Given the description of an element on the screen output the (x, y) to click on. 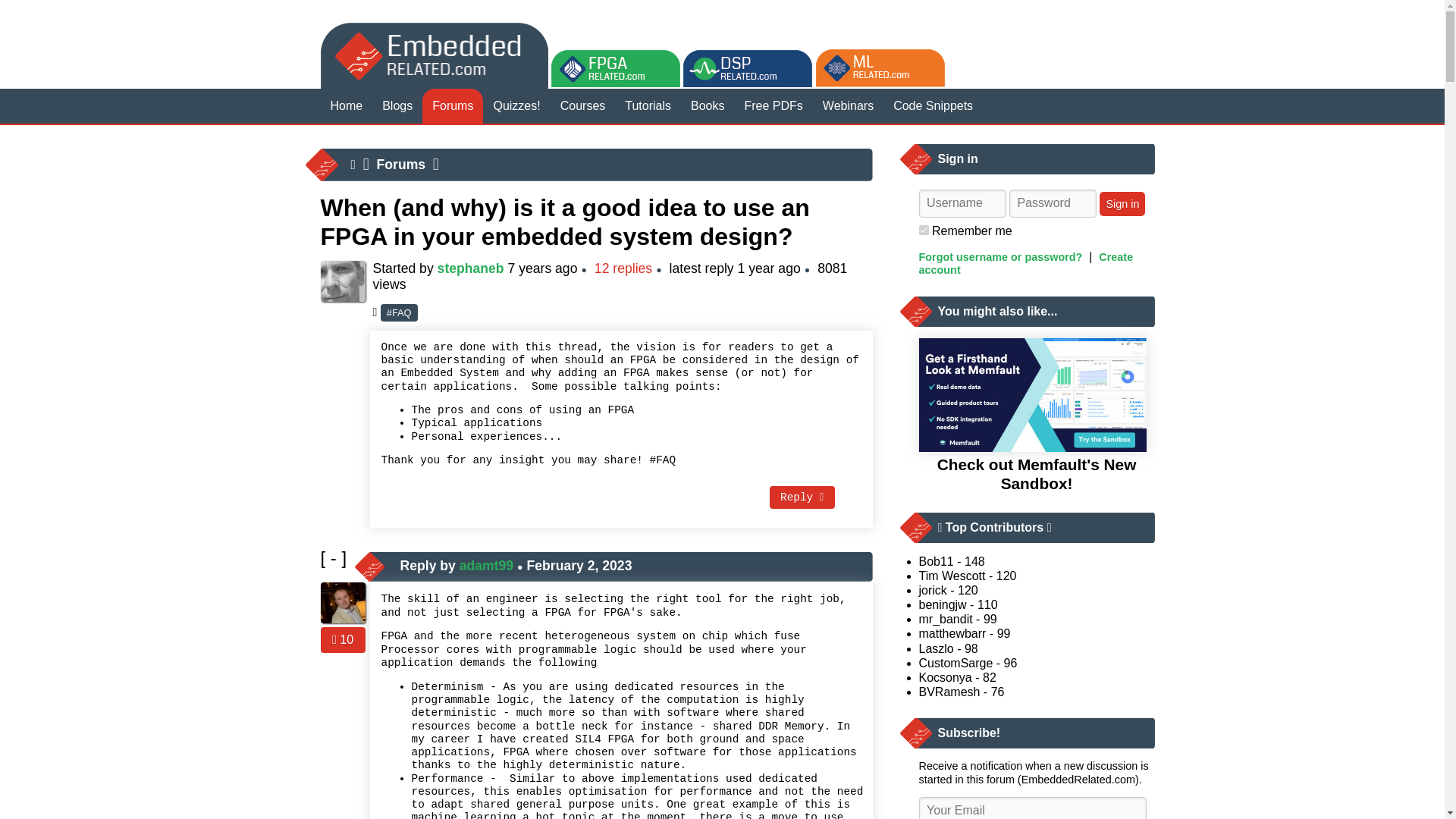
Embedded Systems Quizzes! (516, 105)
Blogs (397, 105)
Forums (401, 164)
Embedded Systems Code Snippets (932, 105)
Forums (452, 105)
Books (707, 105)
checked (923, 230)
Quizzes! (516, 105)
Embedded Systems Tutorials (647, 105)
Embedded Systems Blogs (397, 105)
Home (346, 105)
Code Snippets (932, 105)
Webinars (847, 105)
Tutorials (647, 105)
Embedded Systems Forums and Discussions (452, 105)
